Given the description of an element on the screen output the (x, y) to click on. 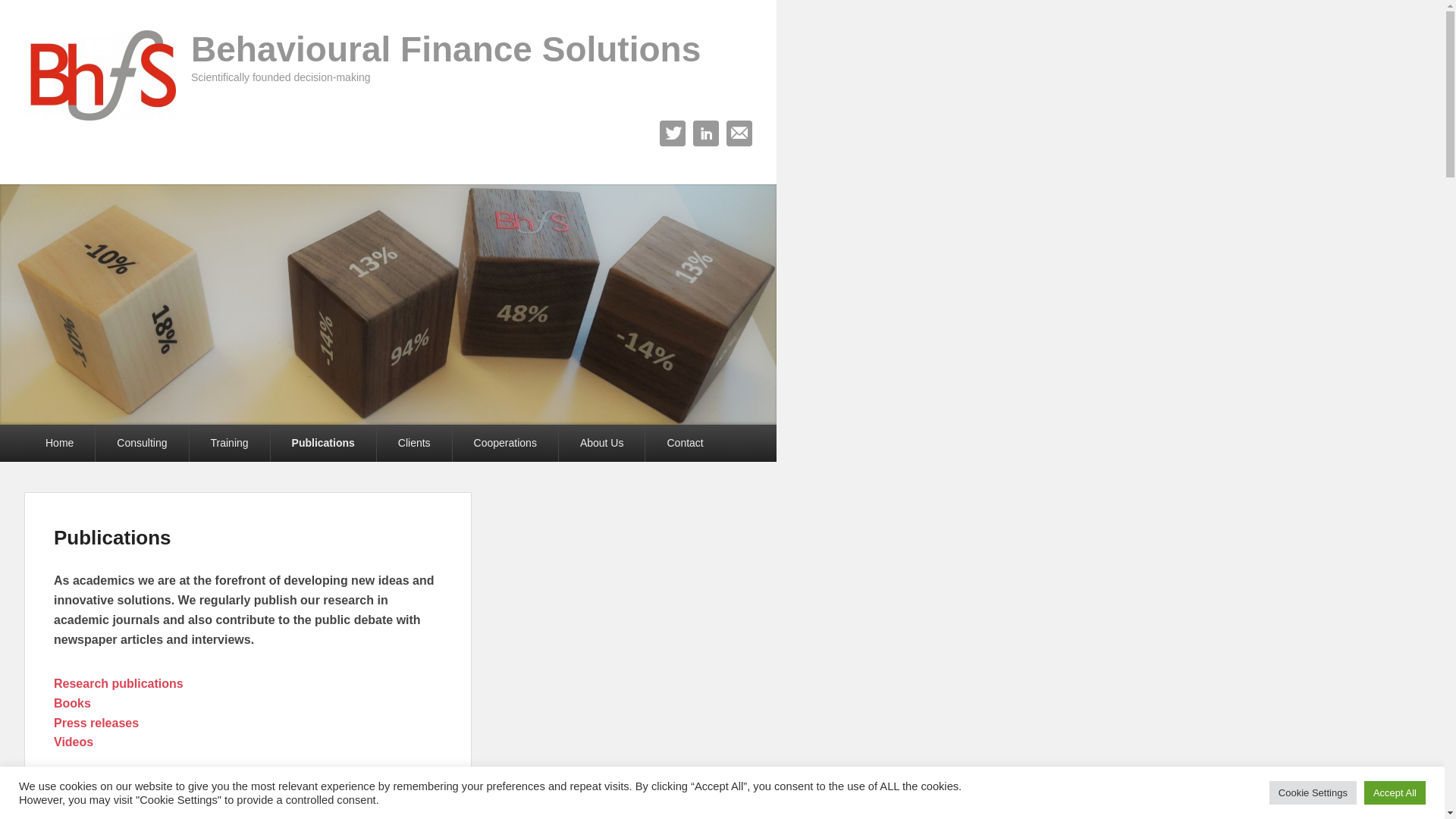
Contact Element type: text (684, 442)
Publications Element type: text (323, 442)
Cooperations Element type: text (505, 442)
Press releases Element type: text (95, 722)
Linkedin Element type: text (705, 133)
Accept All Element type: text (1394, 792)
Cookie Settings Element type: text (1312, 792)
Training Element type: text (229, 442)
Publications Element type: text (112, 537)
Twitter Element type: text (672, 133)
Consulting Element type: text (141, 442)
Email Element type: text (739, 133)
About Us Element type: text (601, 442)
Books Element type: text (72, 702)
Behavioural Finance Solutions Element type: text (445, 49)
Research publications Element type: text (118, 683)
Clients Element type: text (413, 442)
Search Element type: text (20, 10)
Home Element type: text (59, 442)
Videos Element type: text (73, 741)
